Given the description of an element on the screen output the (x, y) to click on. 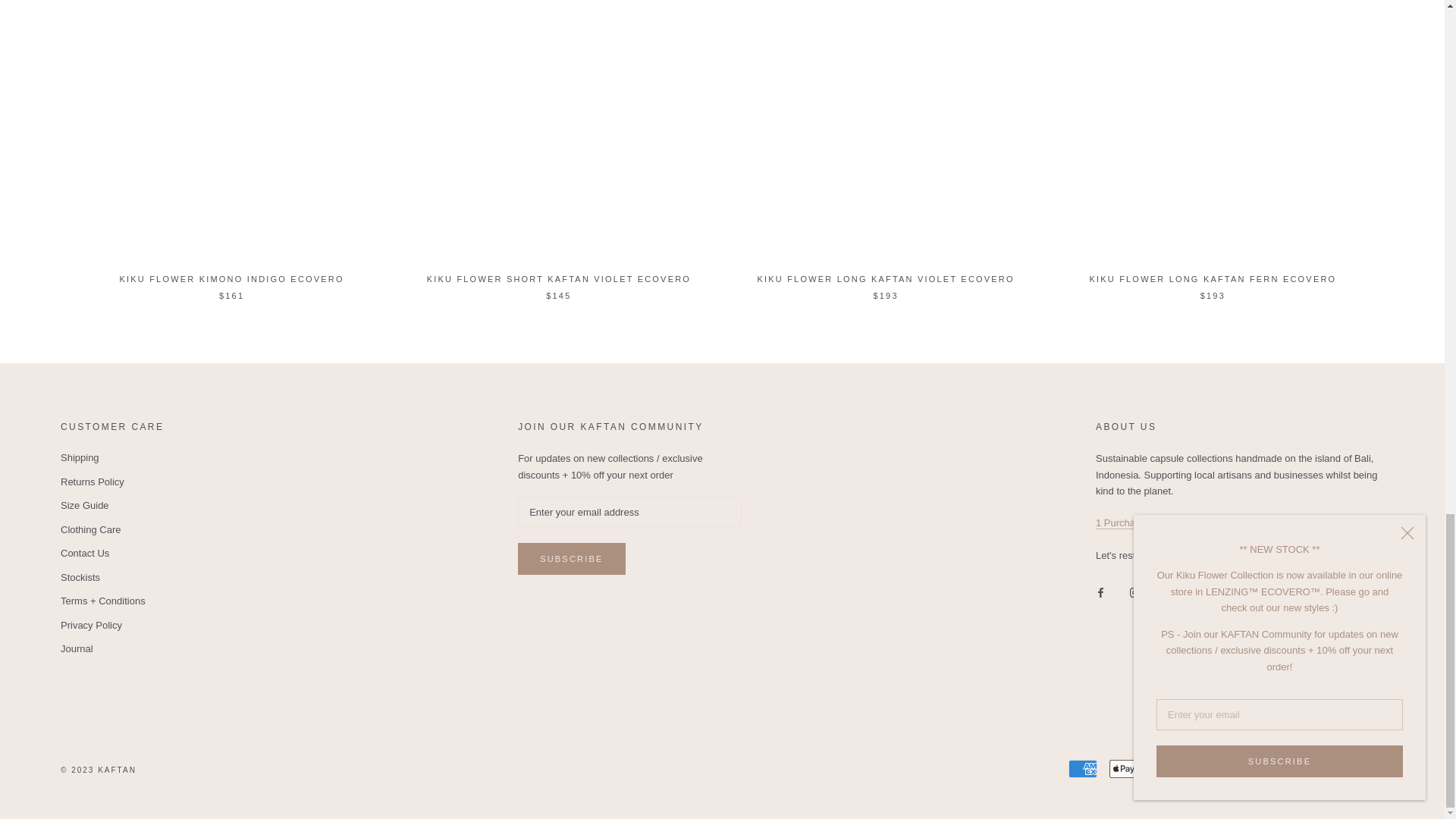
Apple Pay (1123, 769)
Google Pay (1164, 769)
Visa (1369, 769)
Union Pay (1328, 769)
American Express (1082, 769)
PayPal (1245, 769)
Giving Back (1158, 522)
Shop Pay (1286, 769)
Mastercard (1205, 769)
